Given the description of an element on the screen output the (x, y) to click on. 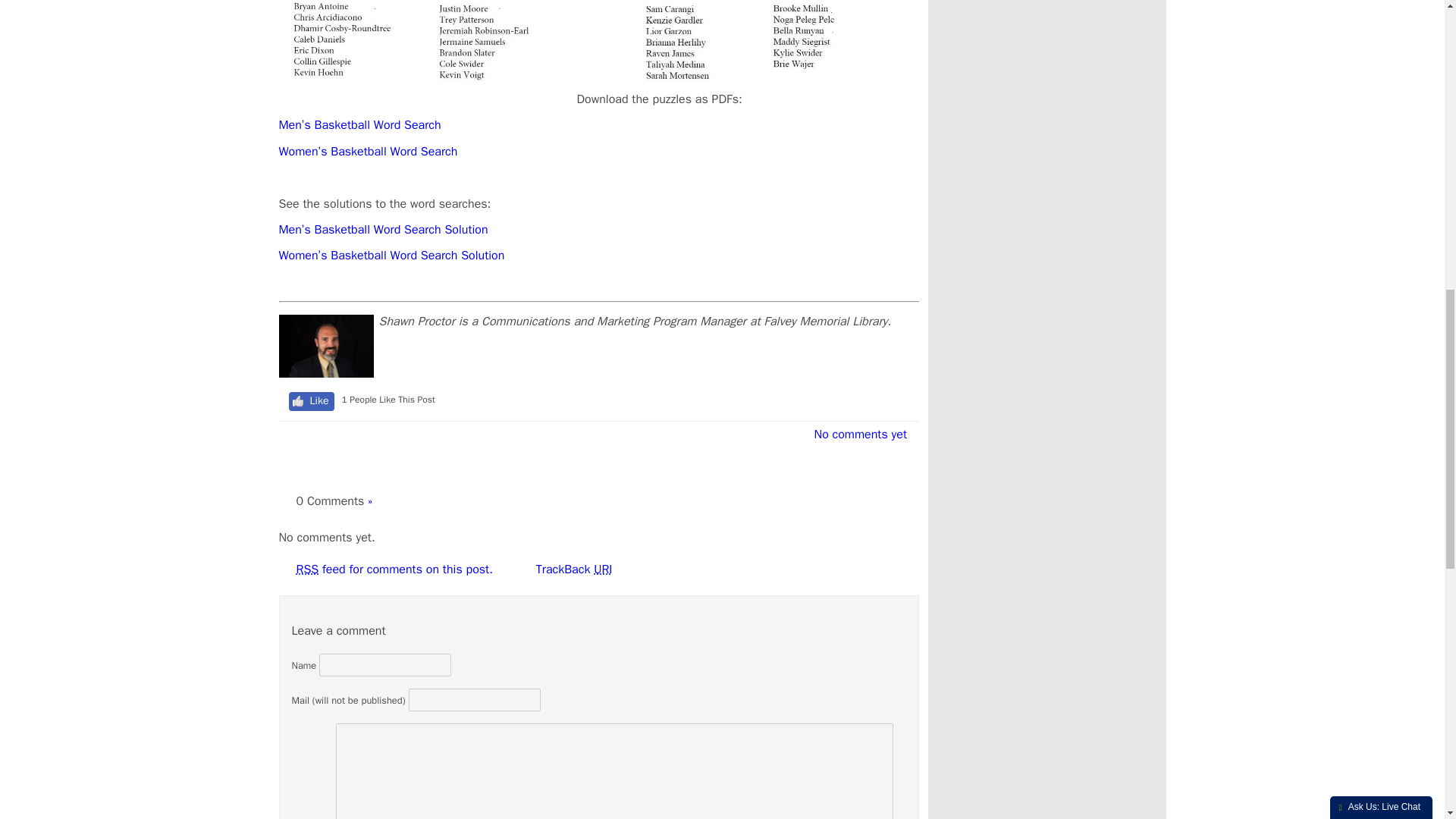
Really Simple Syndication (306, 569)
Uniform Resource Identifier (602, 569)
